Given the description of an element on the screen output the (x, y) to click on. 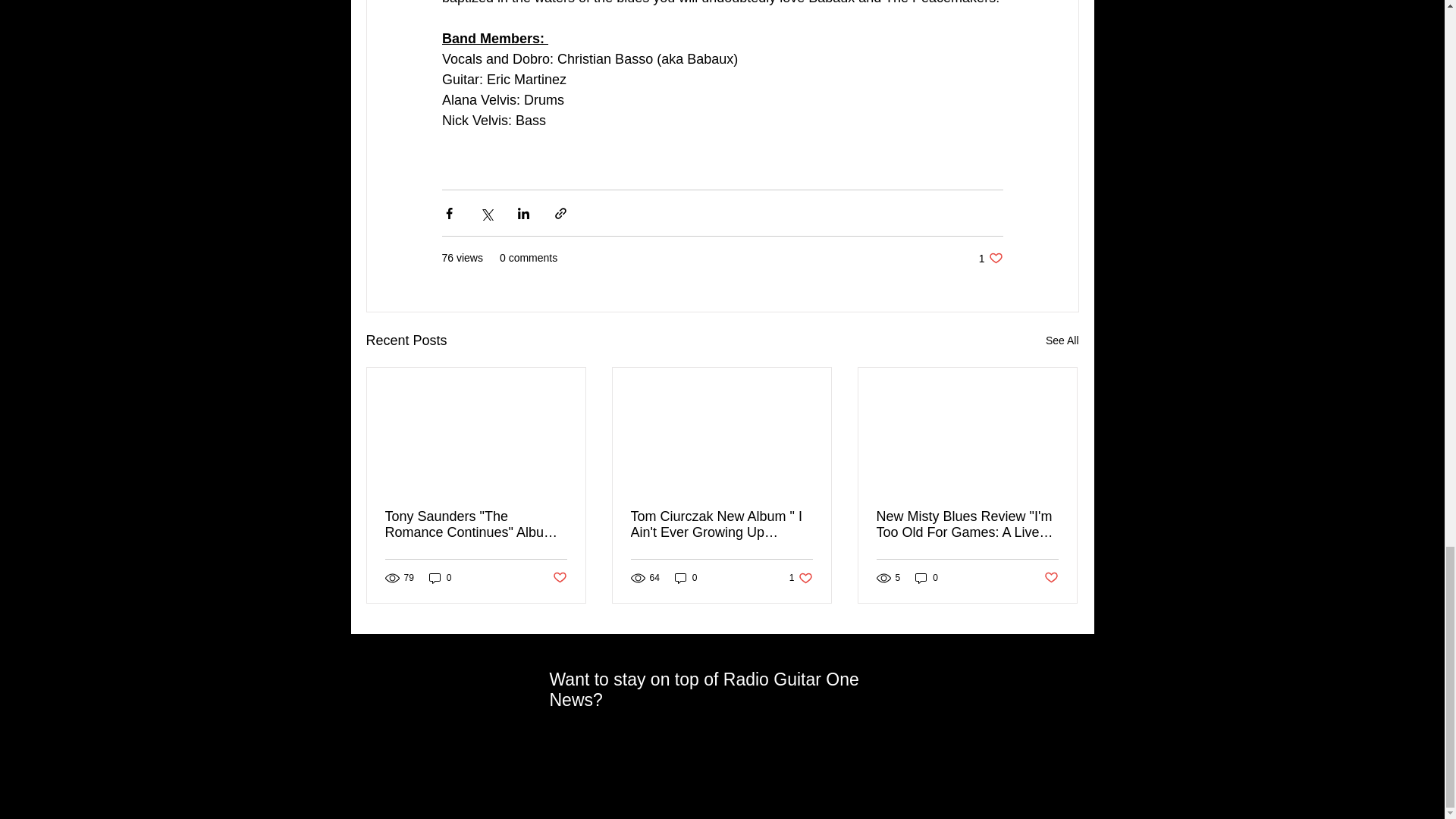
0 (685, 577)
Tony Saunders "The Romance Continues" Album Review! (476, 524)
0 (440, 577)
Post not marked as liked (558, 578)
0 (926, 577)
See All (1061, 341)
